Given the description of an element on the screen output the (x, y) to click on. 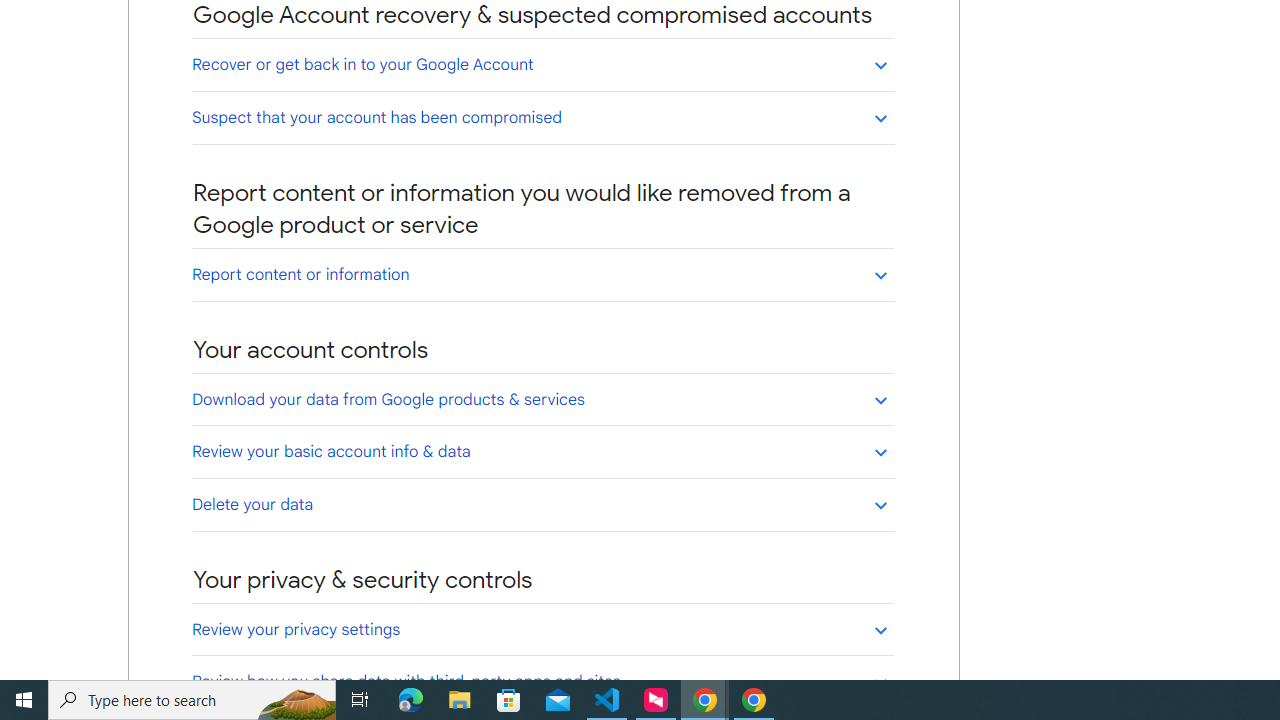
Delete your data (542, 504)
Review how you share data with third-party apps and sites (542, 681)
Report content or information (542, 273)
Suspect that your account has been compromised (542, 117)
Recover or get back in to your Google Account (542, 64)
Review your privacy settings (542, 629)
Review your basic account info & data (542, 451)
Download your data from Google products & services (542, 399)
